Given the description of an element on the screen output the (x, y) to click on. 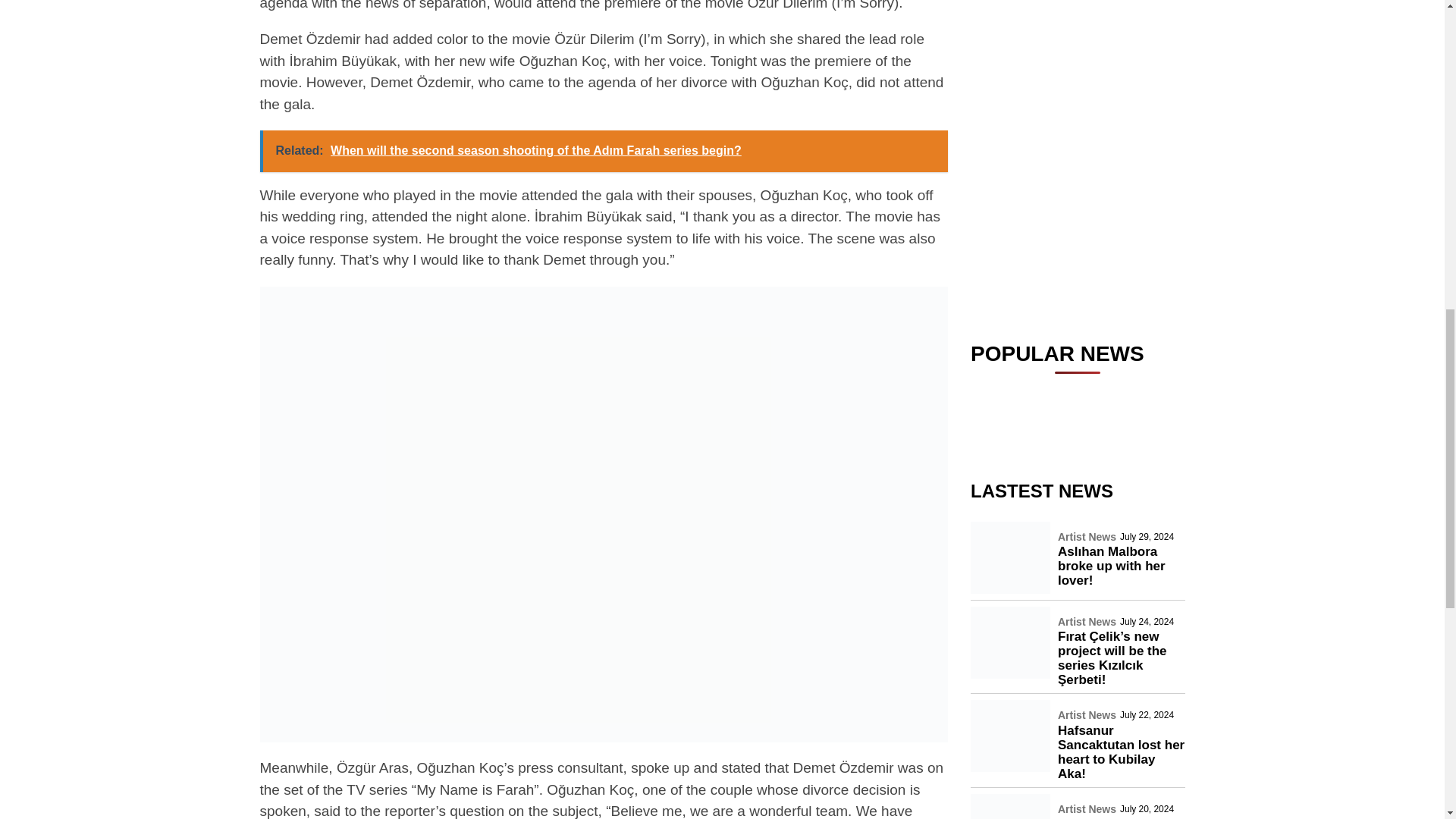
Artist News (1087, 18)
Hafsanur Sancaktutan lost her heart to Kubilay Aka! (1121, 149)
Artist News (1087, 112)
